Given the description of an element on the screen output the (x, y) to click on. 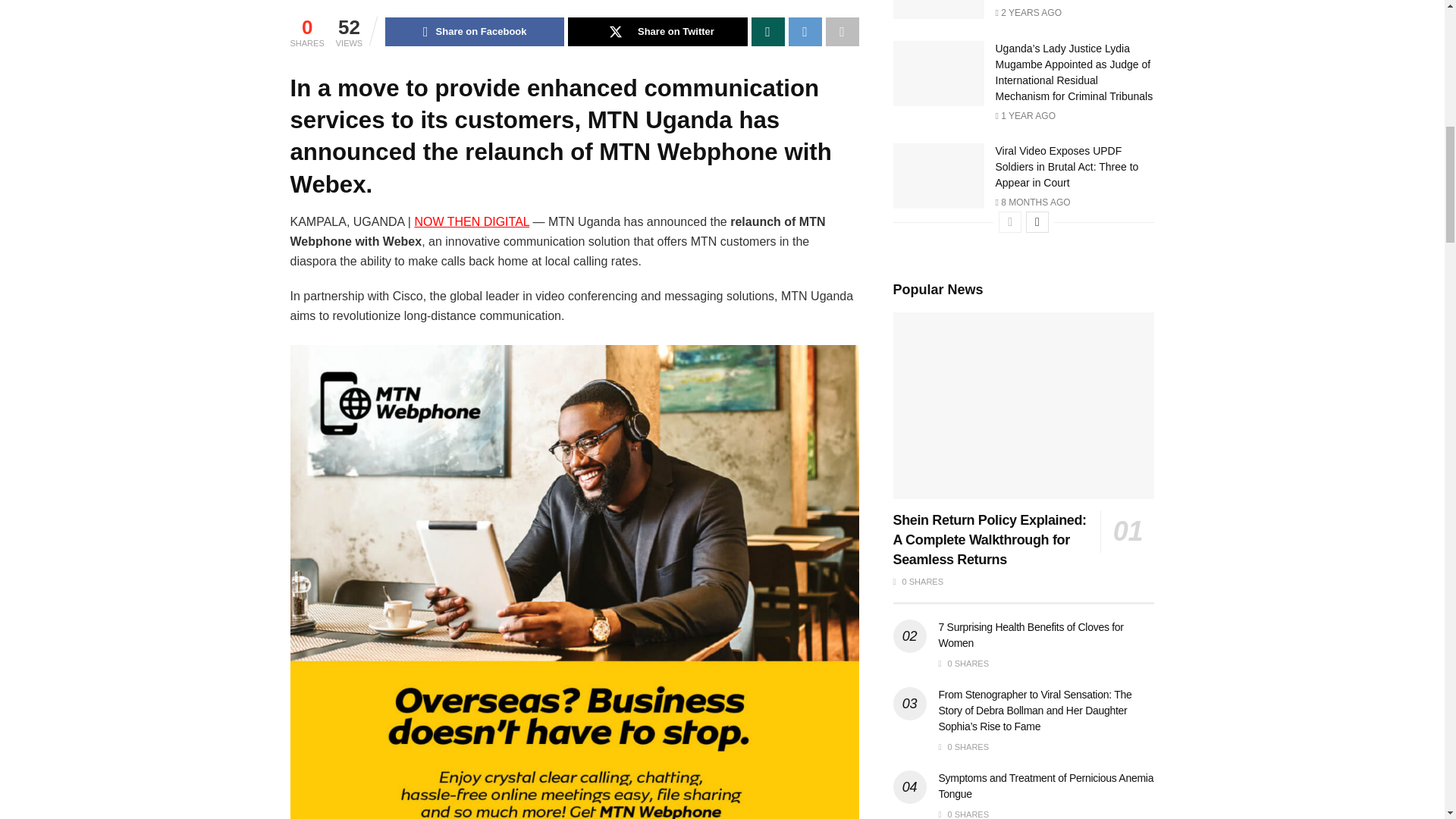
Previous (1010, 221)
Next (1037, 221)
